Given the description of an element on the screen output the (x, y) to click on. 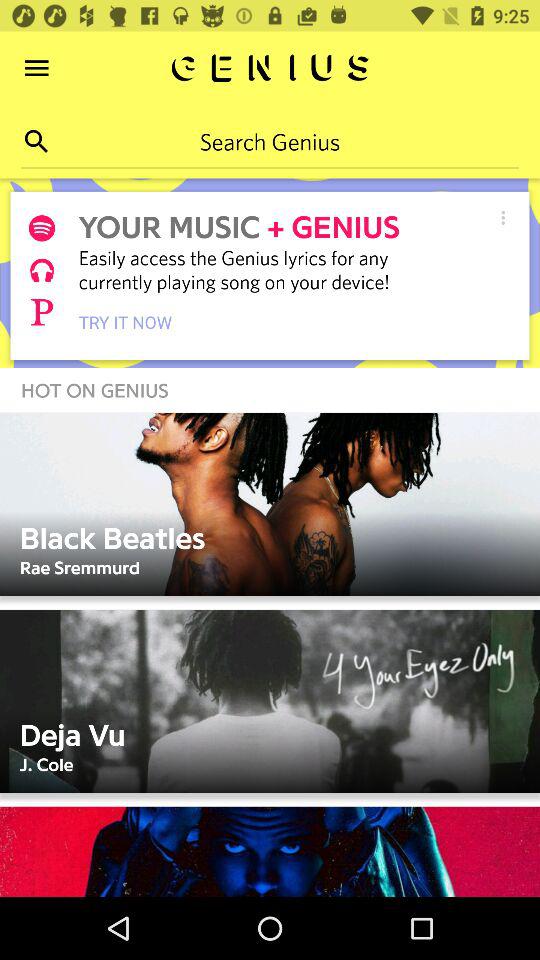
search music (36, 141)
